Given the description of an element on the screen output the (x, y) to click on. 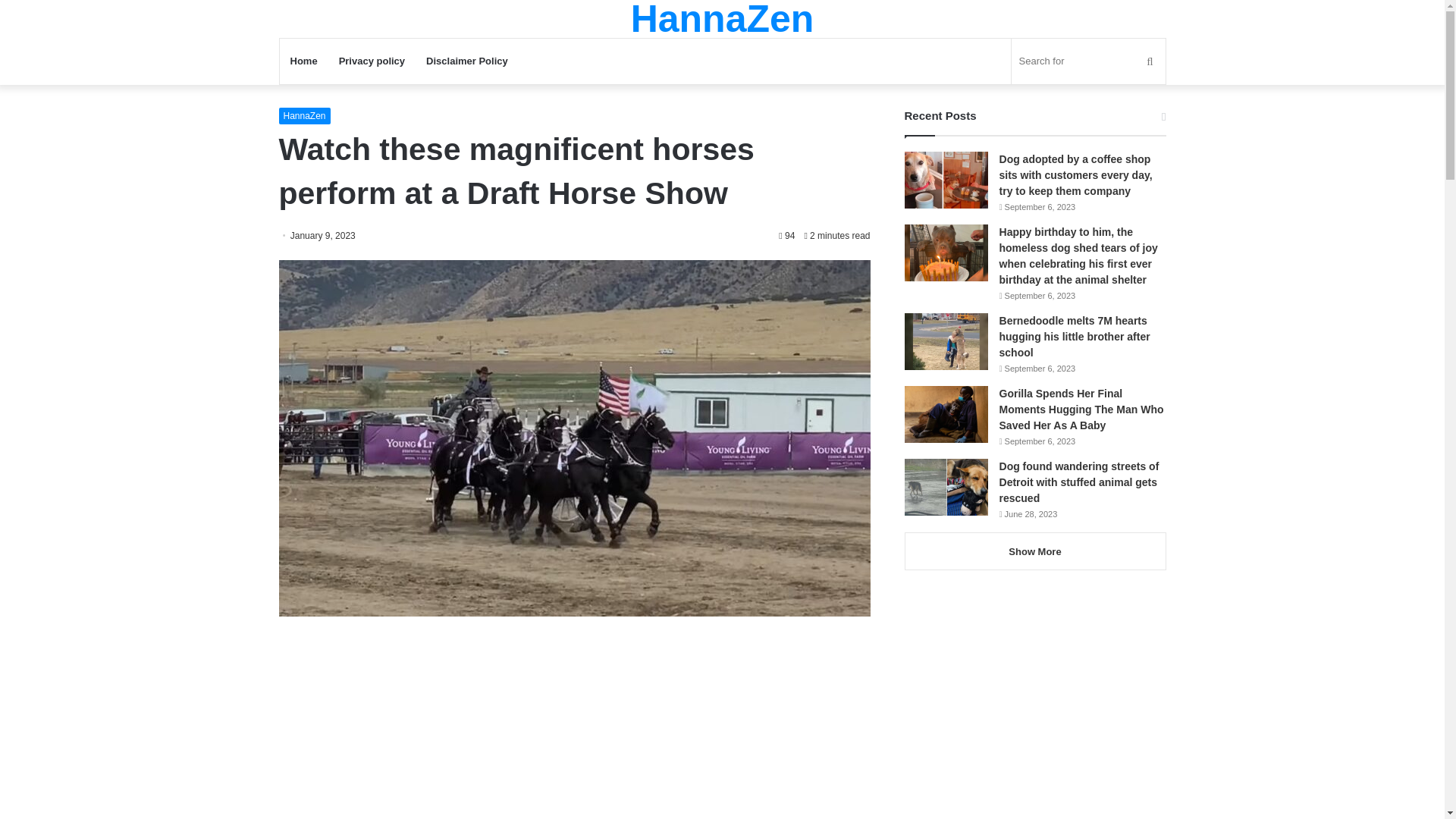
Privacy policy (371, 61)
Advertisement (574, 732)
HannaZen (722, 18)
HannaZen (722, 18)
Search for (1088, 61)
Disclaimer Policy (466, 61)
HannaZen (304, 115)
Home (303, 61)
